Given the description of an element on the screen output the (x, y) to click on. 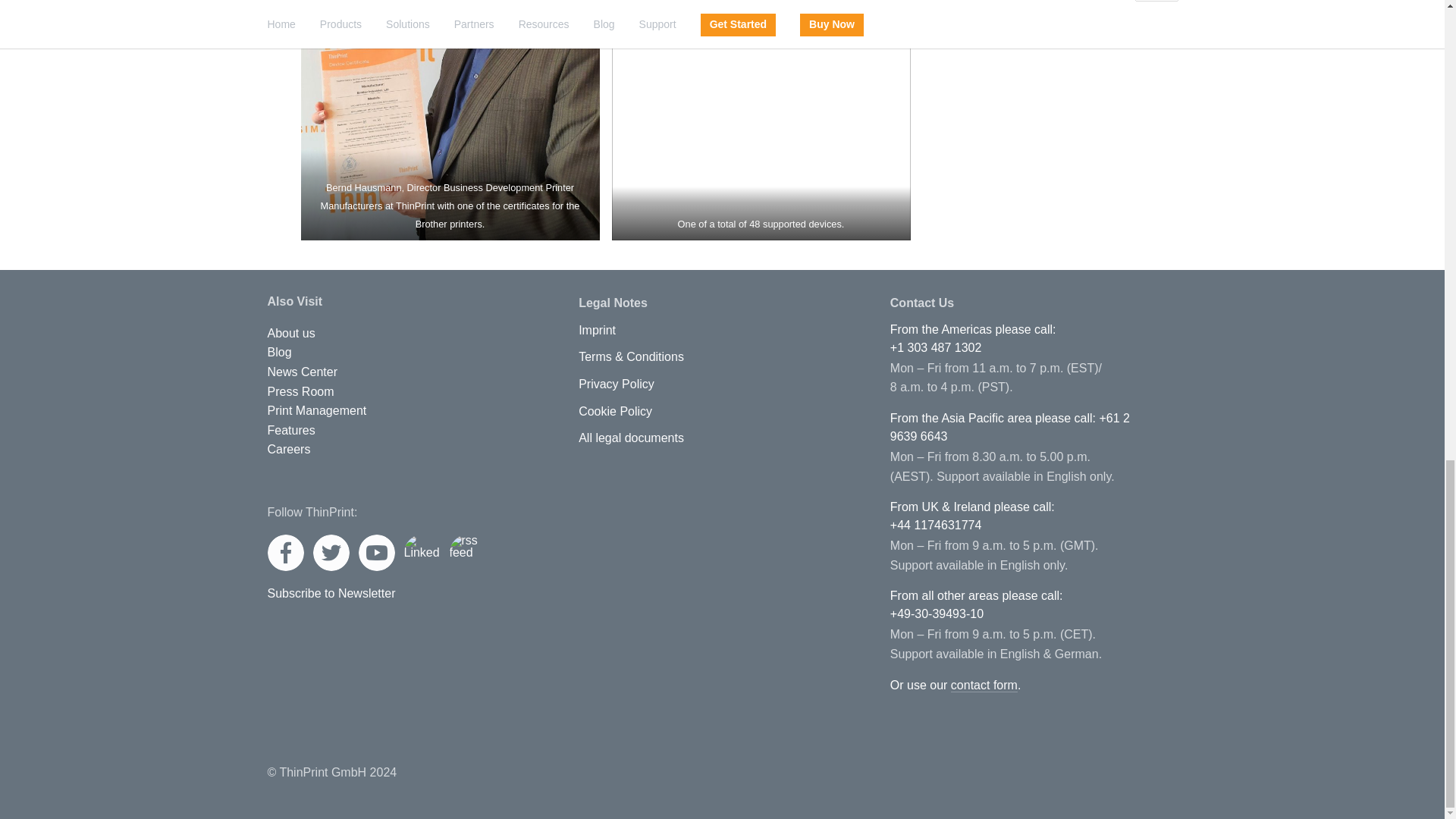
Print Management (316, 410)
Imprint (596, 330)
News Center (301, 372)
Press Room (299, 391)
Careers (288, 449)
Careers (288, 449)
Print Management (316, 410)
Press Room (299, 391)
Subscribe to Newsletter (330, 593)
About ThinPrint (290, 333)
About us (290, 333)
News Center (301, 372)
Features (290, 430)
ThinPrint Blog (278, 352)
Features (290, 430)
